Given the description of an element on the screen output the (x, y) to click on. 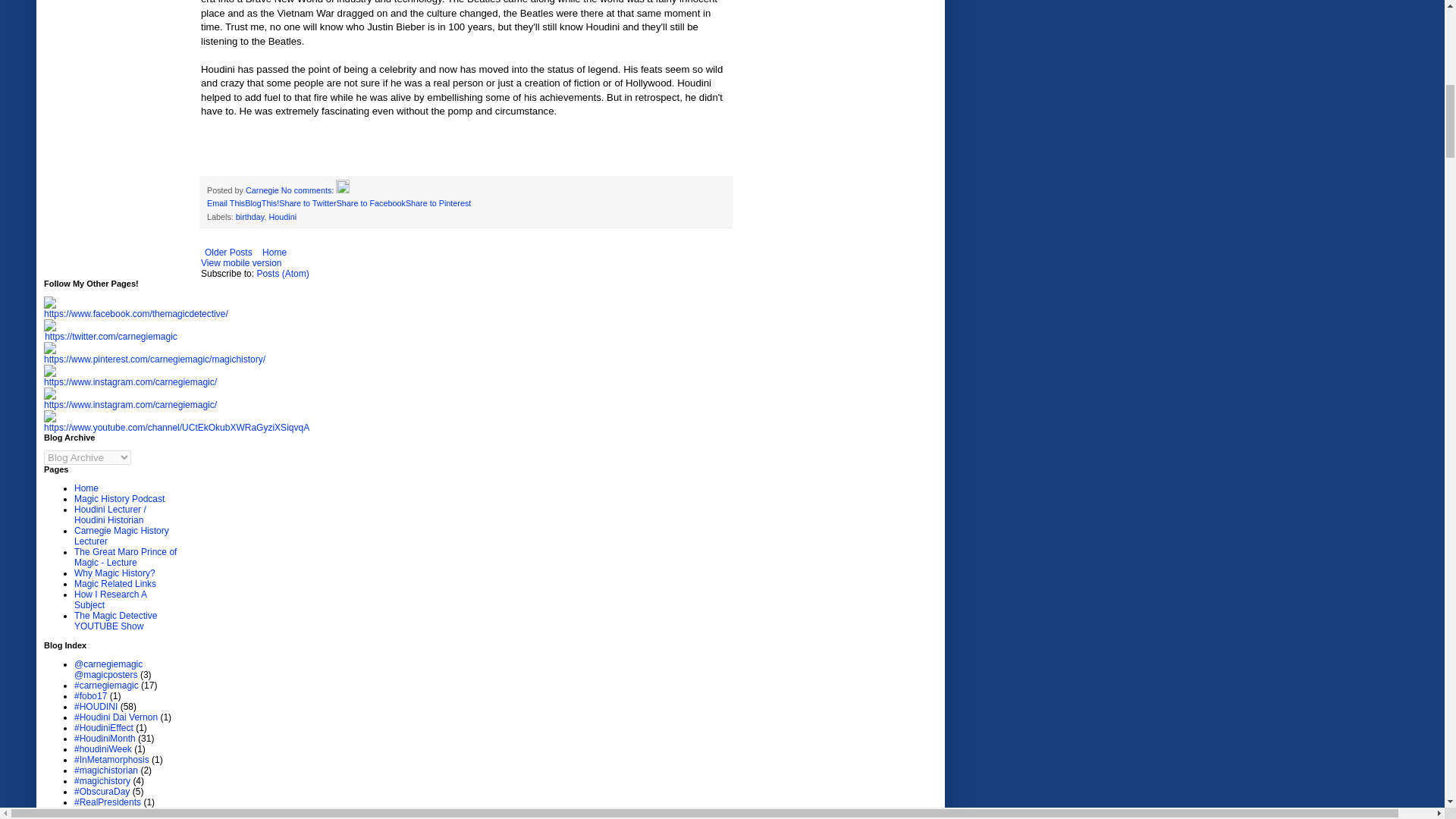
No comments: (308, 189)
author profile (263, 189)
Home (86, 488)
Share to Facebook (371, 203)
View mobile version (241, 262)
Magic History Podcast (119, 498)
Houdini (282, 216)
Older Posts (228, 252)
Share to Pinterest (438, 203)
Share to Twitter (307, 203)
birthday (249, 216)
Carnegie Magic History Lecturer (121, 536)
BlogThis! (261, 203)
Why Magic History? (114, 573)
Share to Pinterest (438, 203)
